Given the description of an element on the screen output the (x, y) to click on. 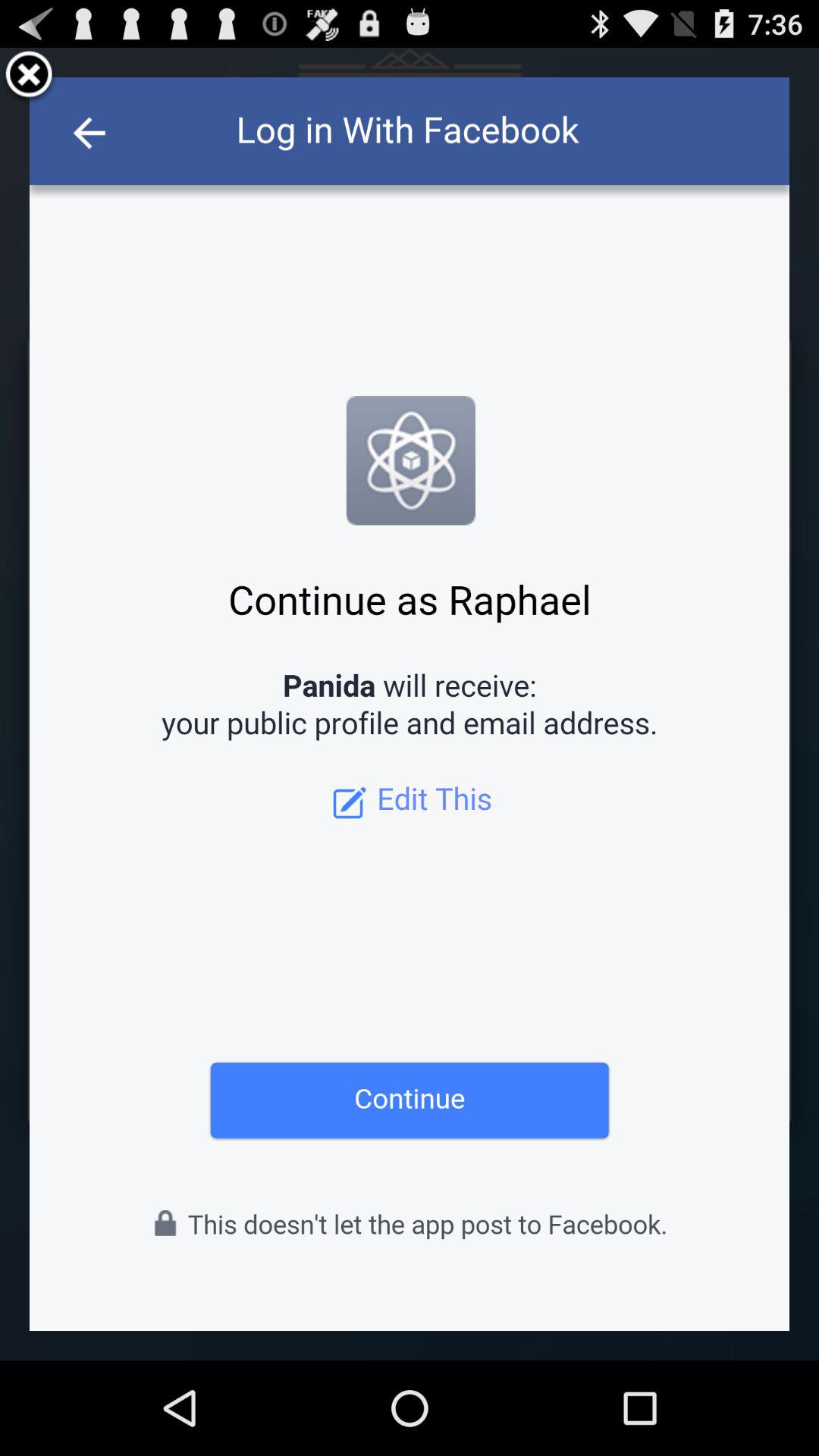
close the app (29, 76)
